Given the description of an element on the screen output the (x, y) to click on. 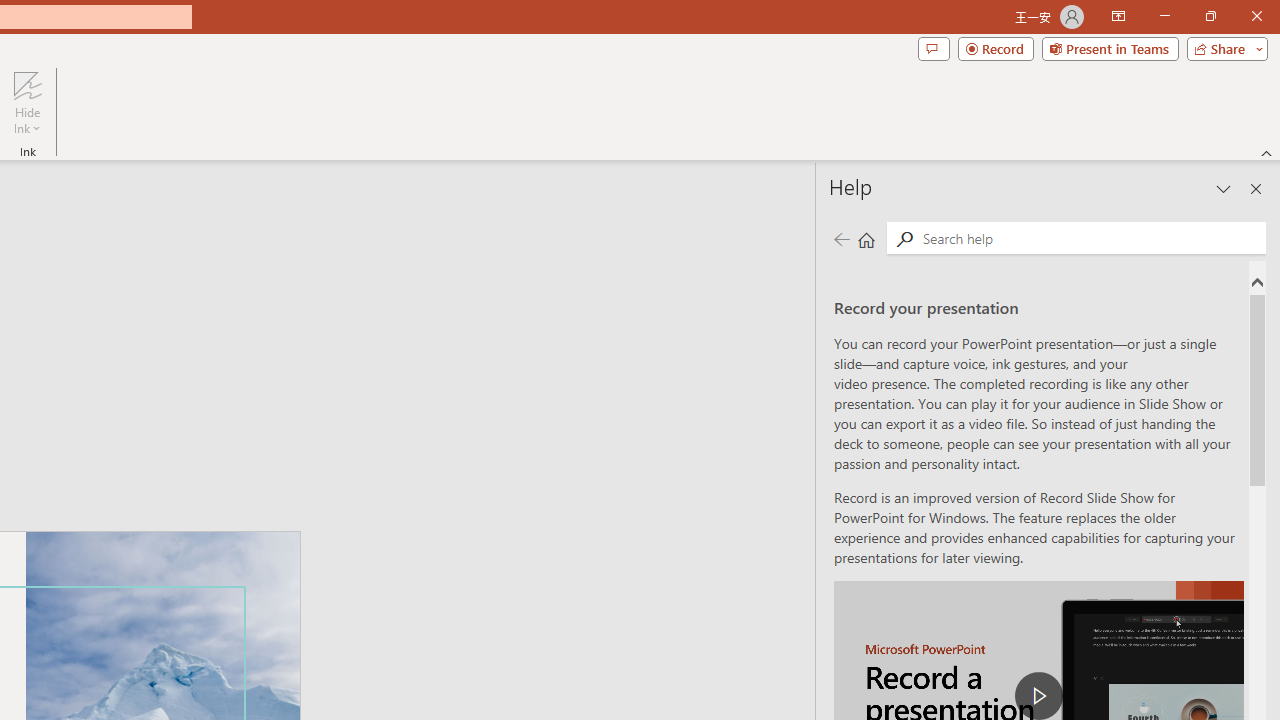
play Record a Presentation (1038, 695)
